Given the description of an element on the screen output the (x, y) to click on. 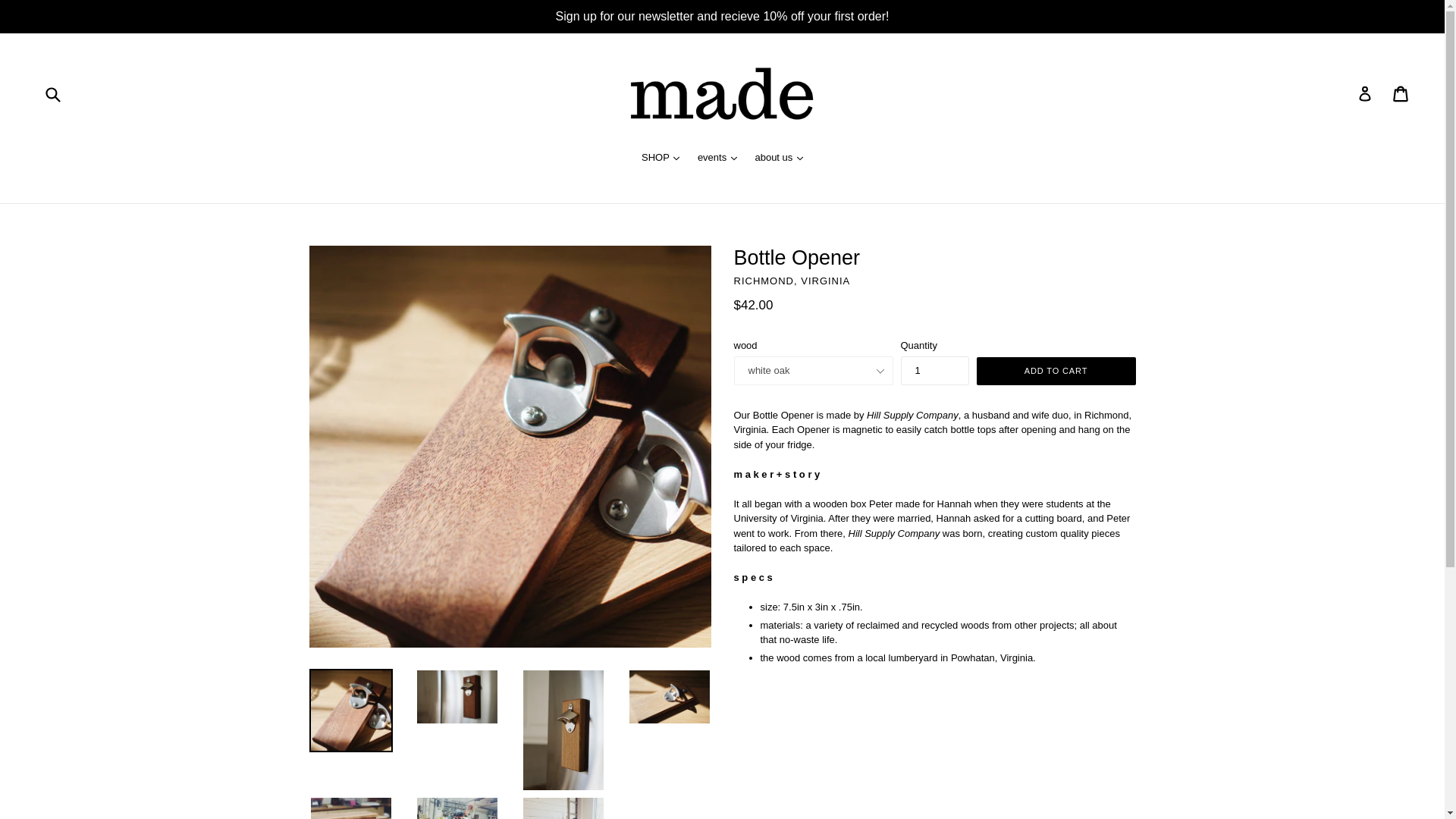
1 (935, 370)
